Given the description of an element on the screen output the (x, y) to click on. 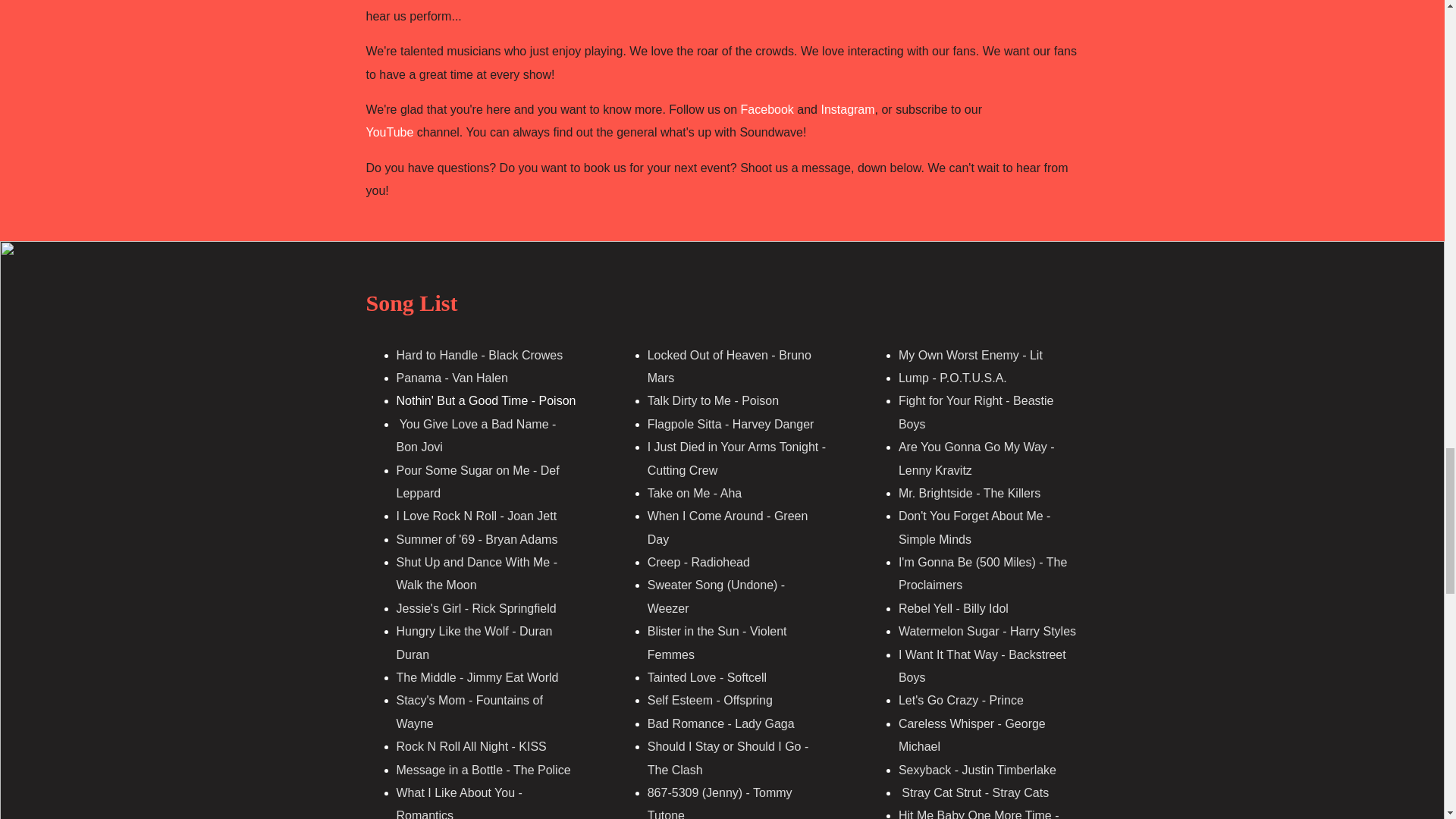
Instagram (848, 109)
Facebook (769, 109)
YouTube (389, 132)
